Given the description of an element on the screen output the (x, y) to click on. 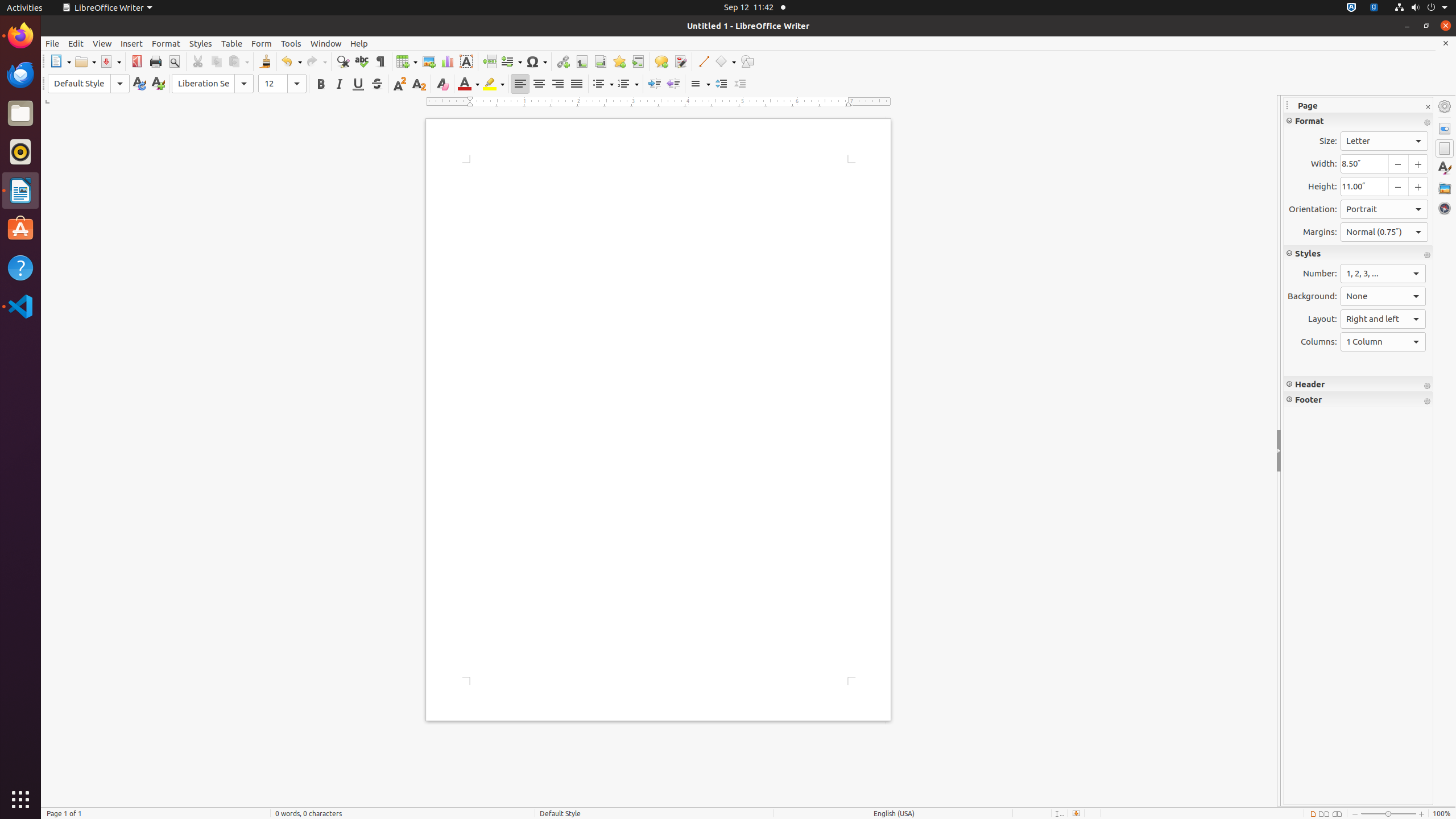
New Element type: push-button (157, 83)
Styles Element type: radio-button (1444, 168)
Files Element type: push-button (20, 113)
Line Spacing Element type: push-button (699, 83)
Page Break Element type: push-button (489, 61)
